Given the description of an element on the screen output the (x, y) to click on. 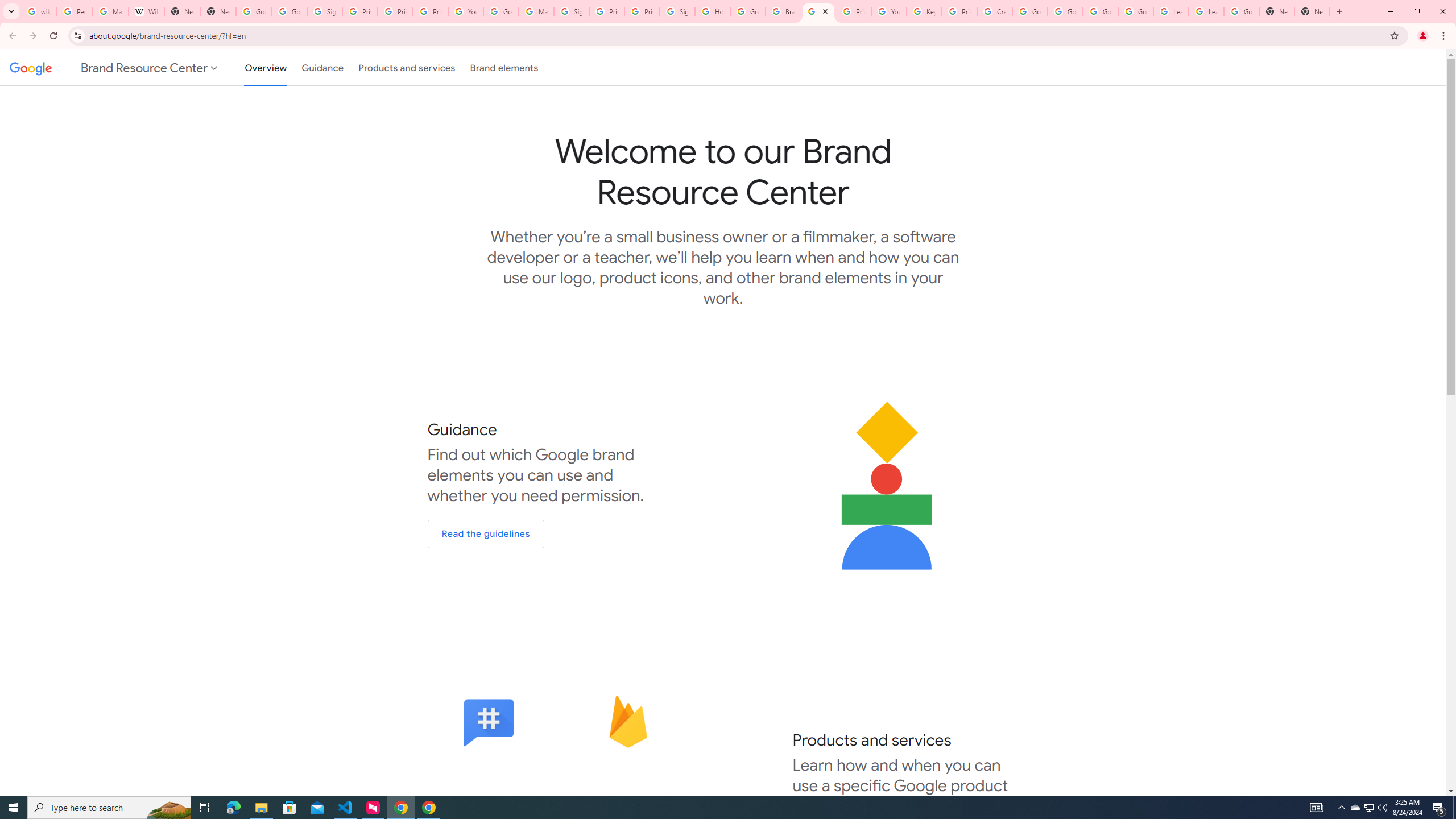
Brand elements (504, 67)
View site information (77, 35)
Bookmark this tab (1393, 35)
Reload (52, 35)
Google Account (1240, 11)
New Tab (1338, 11)
You (1422, 35)
Brand Resource Center (817, 11)
